Given the description of an element on the screen output the (x, y) to click on. 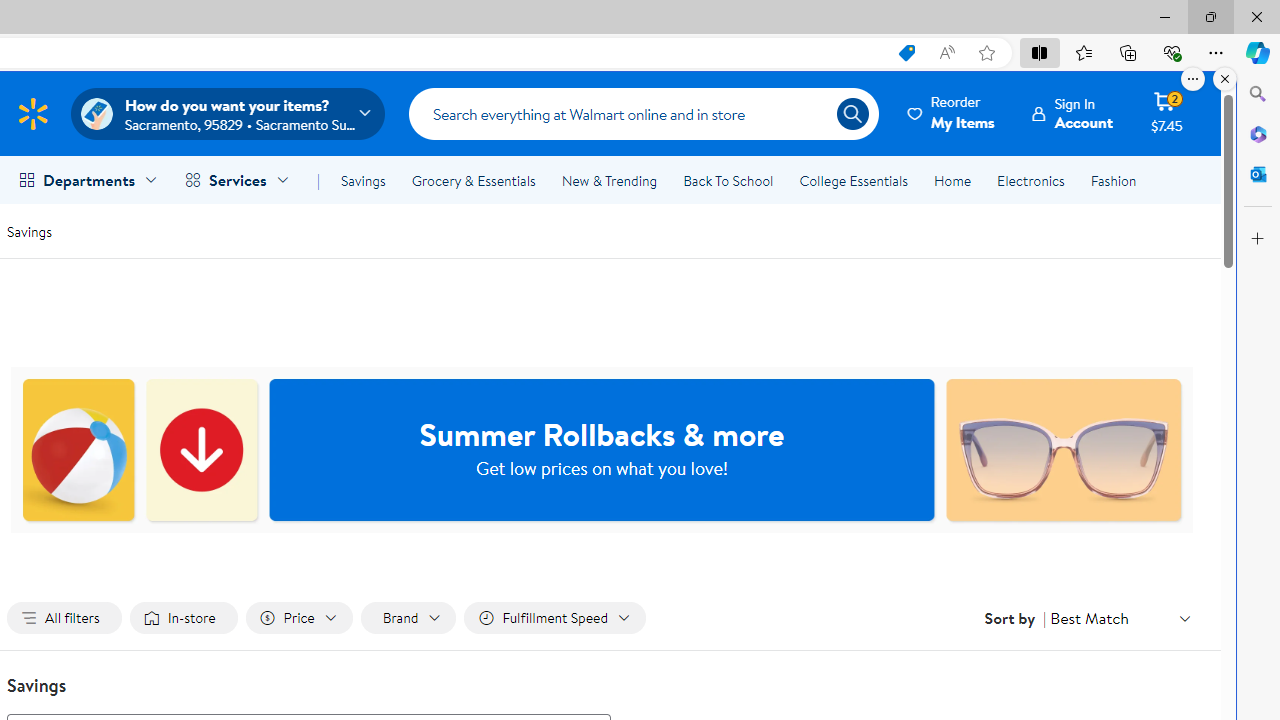
Filter by Fulfillment Speed not applied, activate to change (554, 618)
Search icon (852, 113)
Filter by In-store (183, 618)
Sort by Best Match (1120, 618)
Cart contains 2 items Total Amount $7.45 (1166, 113)
This site has coupons! Shopping in Microsoft Edge, 7 (906, 53)
ReorderMy Items (952, 113)
College Essentials (852, 180)
Sign In Account (1072, 113)
